Given the description of an element on the screen output the (x, y) to click on. 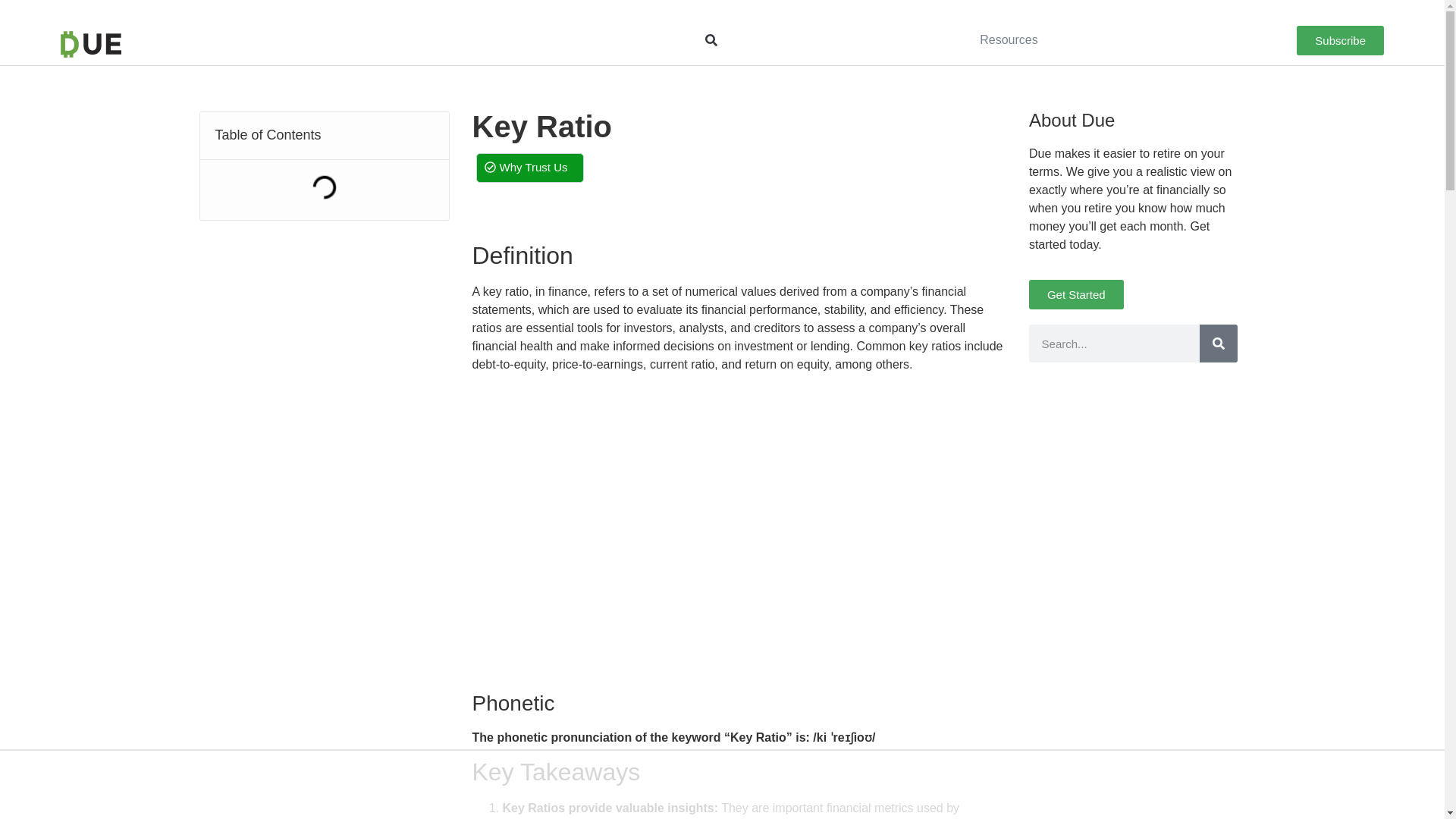
Get Started (1076, 294)
Subscribe (1340, 40)
Why Trust Us (529, 167)
Resources (1007, 39)
